Given the description of an element on the screen output the (x, y) to click on. 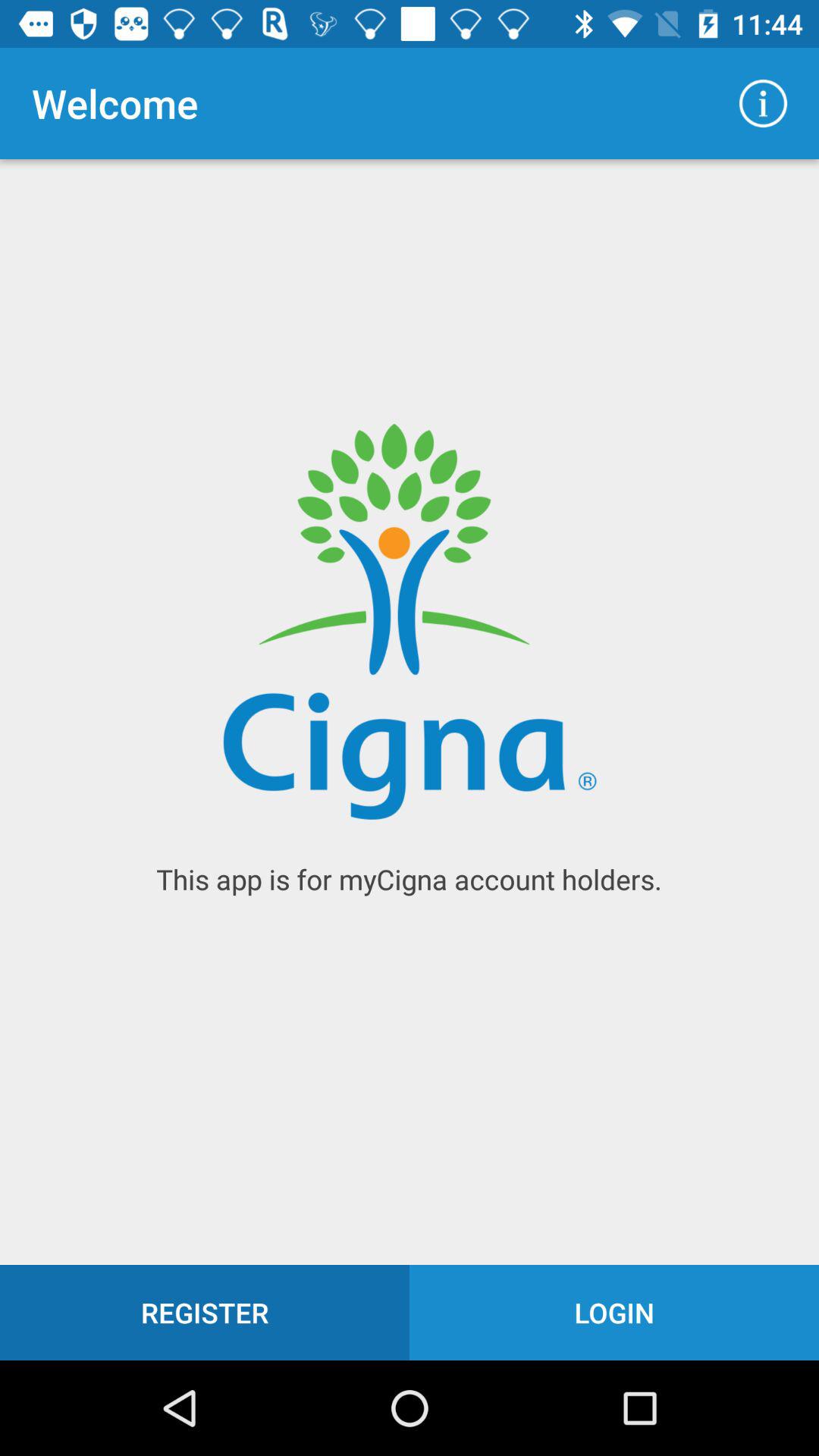
press the item next to register (614, 1312)
